Given the description of an element on the screen output the (x, y) to click on. 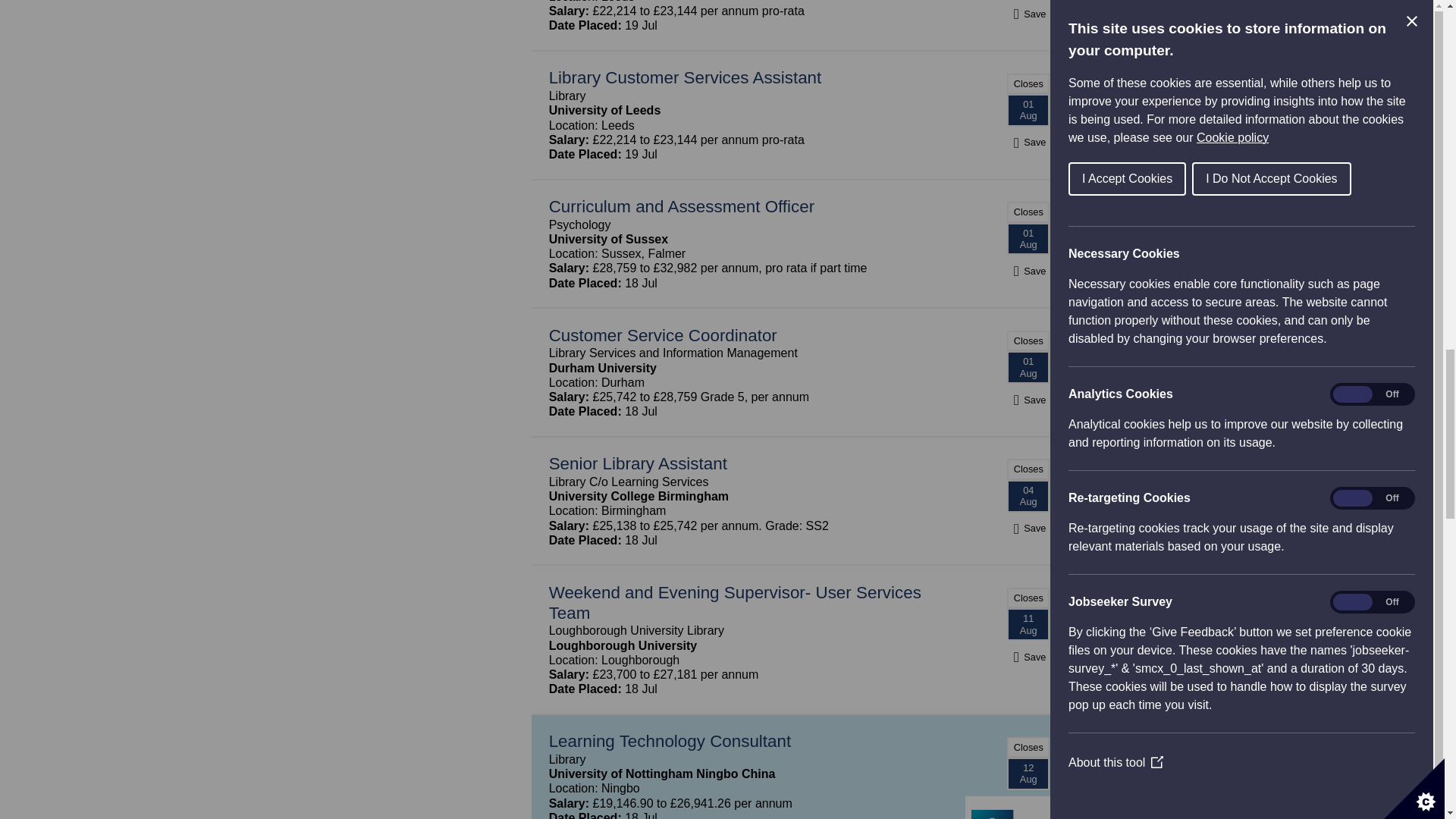
Save job (1027, 656)
Save job (1027, 399)
Save job (1027, 13)
Save job (1027, 141)
Save job (1027, 270)
Save job (1027, 527)
